Given the description of an element on the screen output the (x, y) to click on. 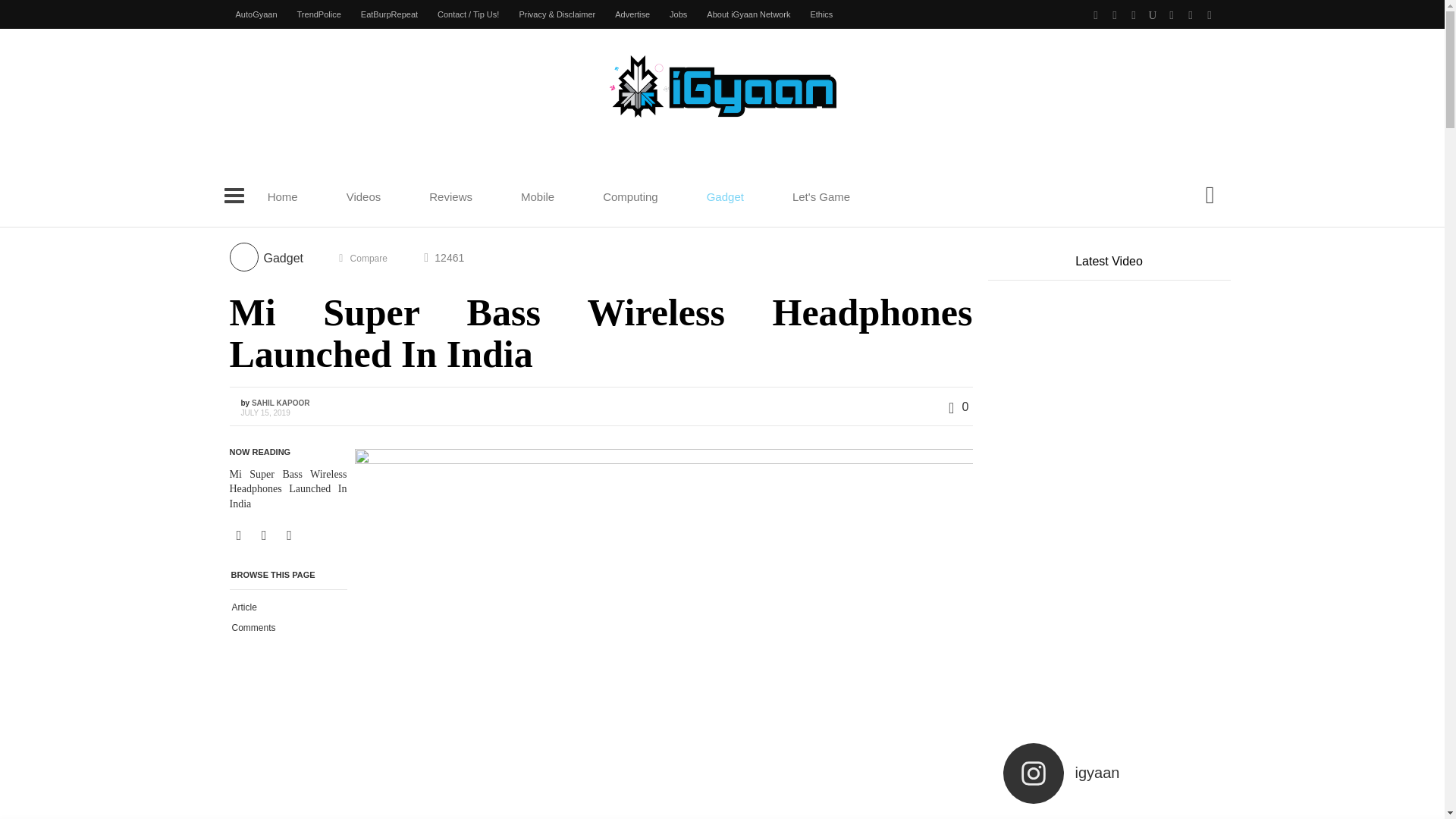
Videos (355, 196)
EatBurpRepeat (389, 14)
About iGyaan Network (748, 14)
Jobs (678, 14)
TrendPolice (318, 14)
Home (282, 196)
AutoGyaan (255, 14)
Advertise (632, 14)
Ethics (821, 14)
